Given the description of an element on the screen output the (x, y) to click on. 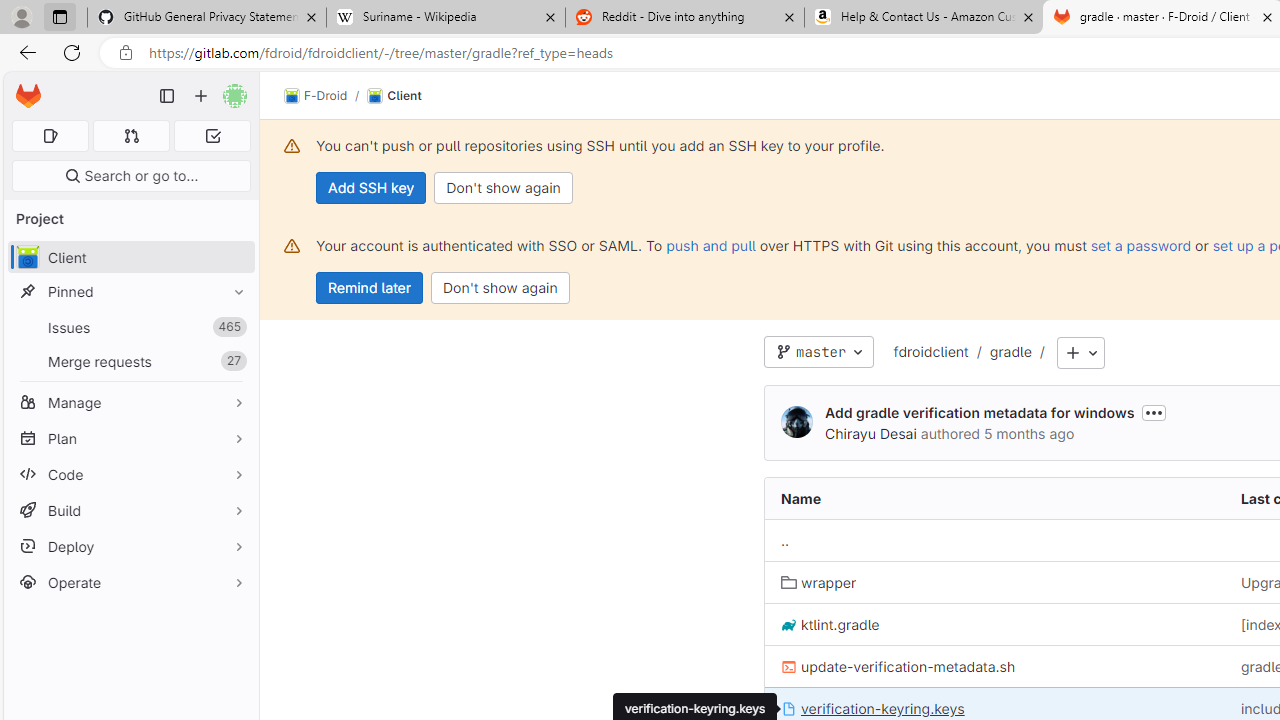
Plan (130, 438)
ktlint.gradle (830, 624)
Name (994, 498)
Issues 465 (130, 327)
/gradle (999, 353)
Don't show again (500, 287)
wrapper (818, 582)
Build (130, 510)
master (819, 351)
Merge requests 27 (130, 361)
Add to tree (1080, 353)
